Given the description of an element on the screen output the (x, y) to click on. 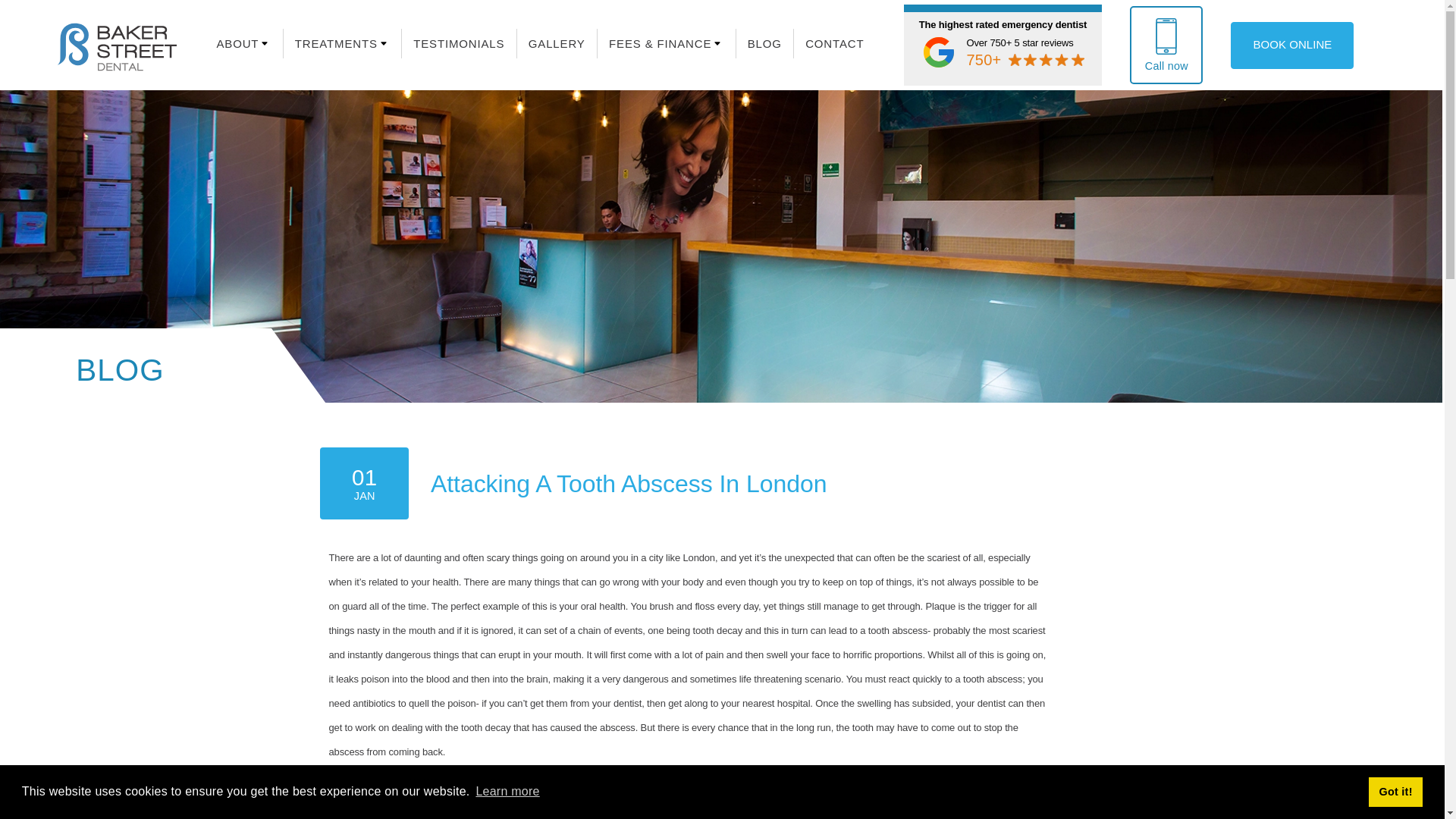
TREATMENTS (336, 42)
Got it! (1395, 791)
Learn more (507, 791)
ABOUT (237, 42)
